Given the description of an element on the screen output the (x, y) to click on. 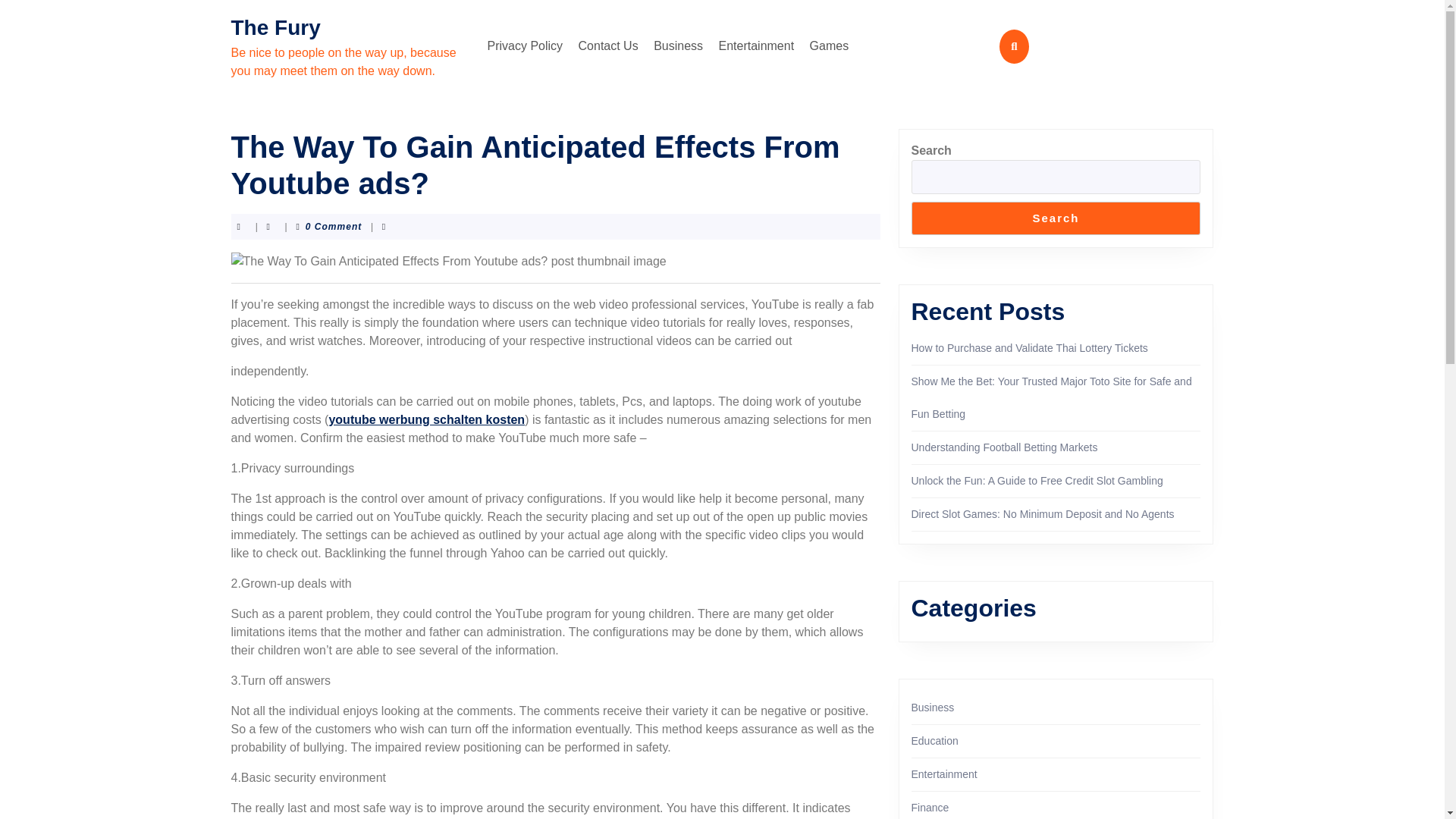
Entertainment (943, 774)
Search (1056, 218)
Contact Us (608, 46)
Education (934, 740)
The Fury (275, 27)
Business (933, 707)
Business (678, 46)
youtube werbung schalten kosten (426, 419)
Understanding Football Betting Markets (1004, 447)
How to Purchase and Validate Thai Lottery Tickets (1029, 347)
Entertainment (756, 46)
Unlock the Fun: A Guide to Free Credit Slot Gambling (1037, 480)
Privacy Policy (524, 46)
Games (829, 46)
Direct Slot Games: No Minimum Deposit and No Agents (1042, 513)
